Given the description of an element on the screen output the (x, y) to click on. 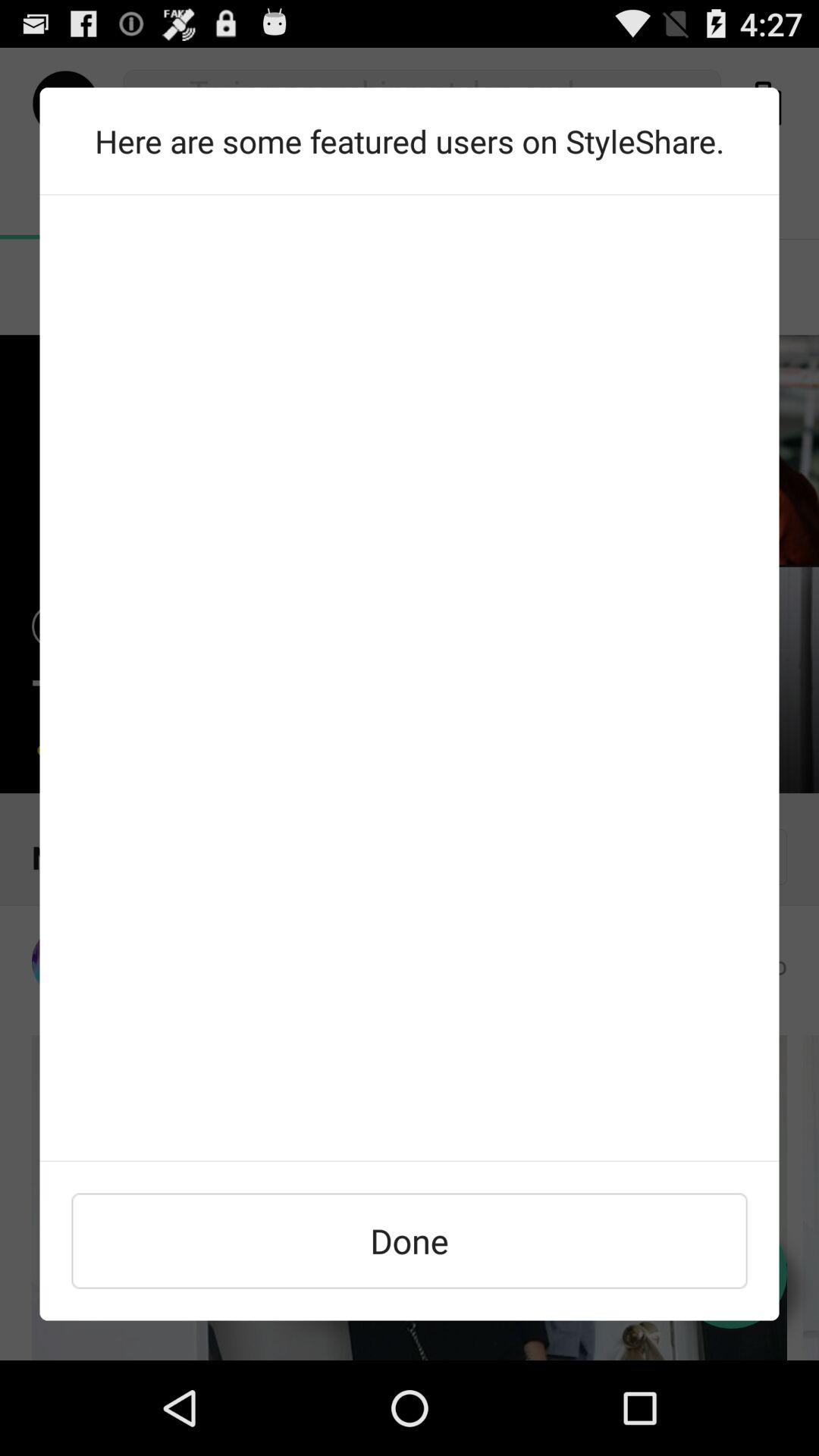
choose the item at the center (409, 677)
